Given the description of an element on the screen output the (x, y) to click on. 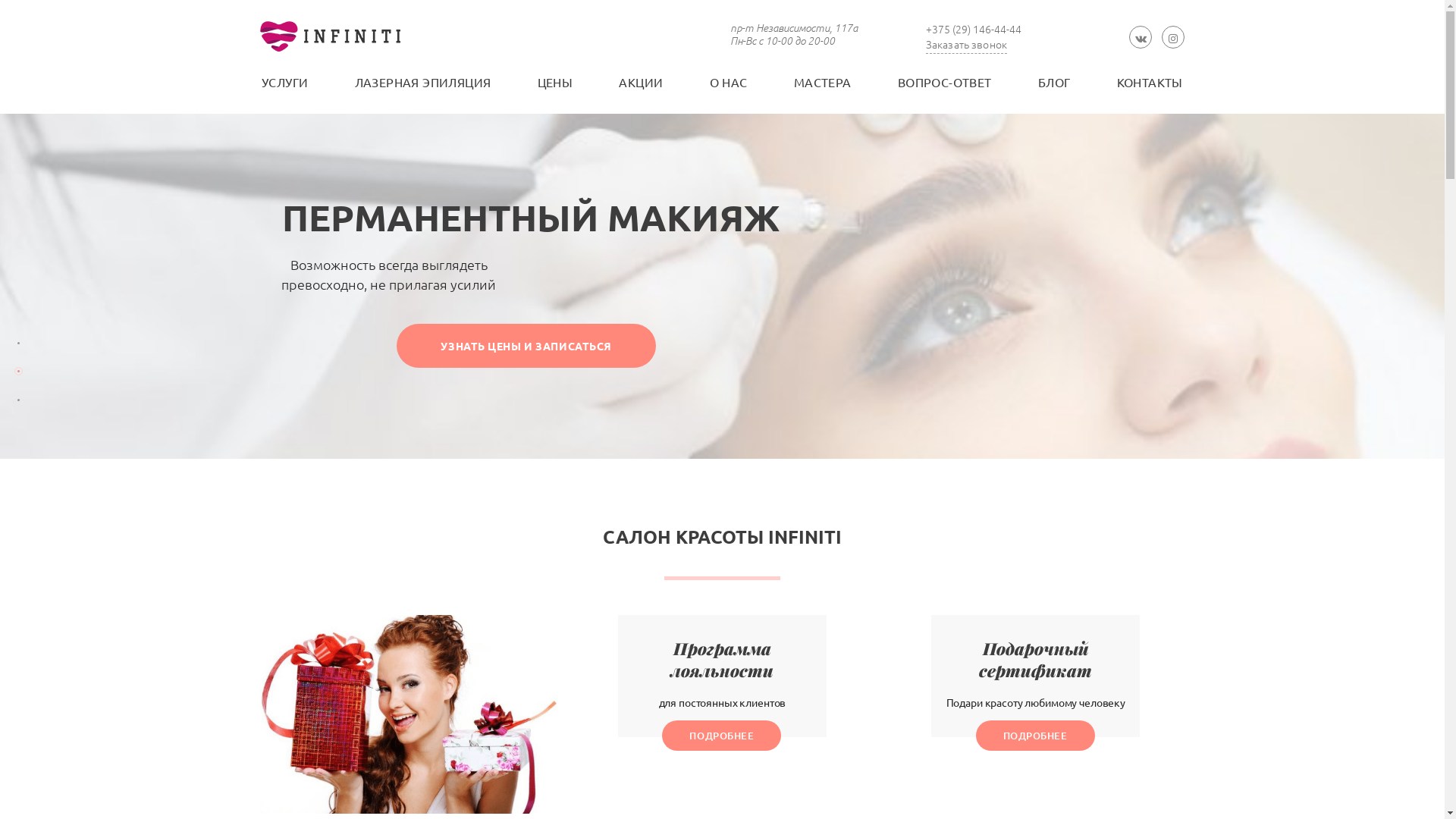
1 Element type: text (18, 342)
2 Element type: text (18, 371)
3 Element type: text (18, 399)
